Given the description of an element on the screen output the (x, y) to click on. 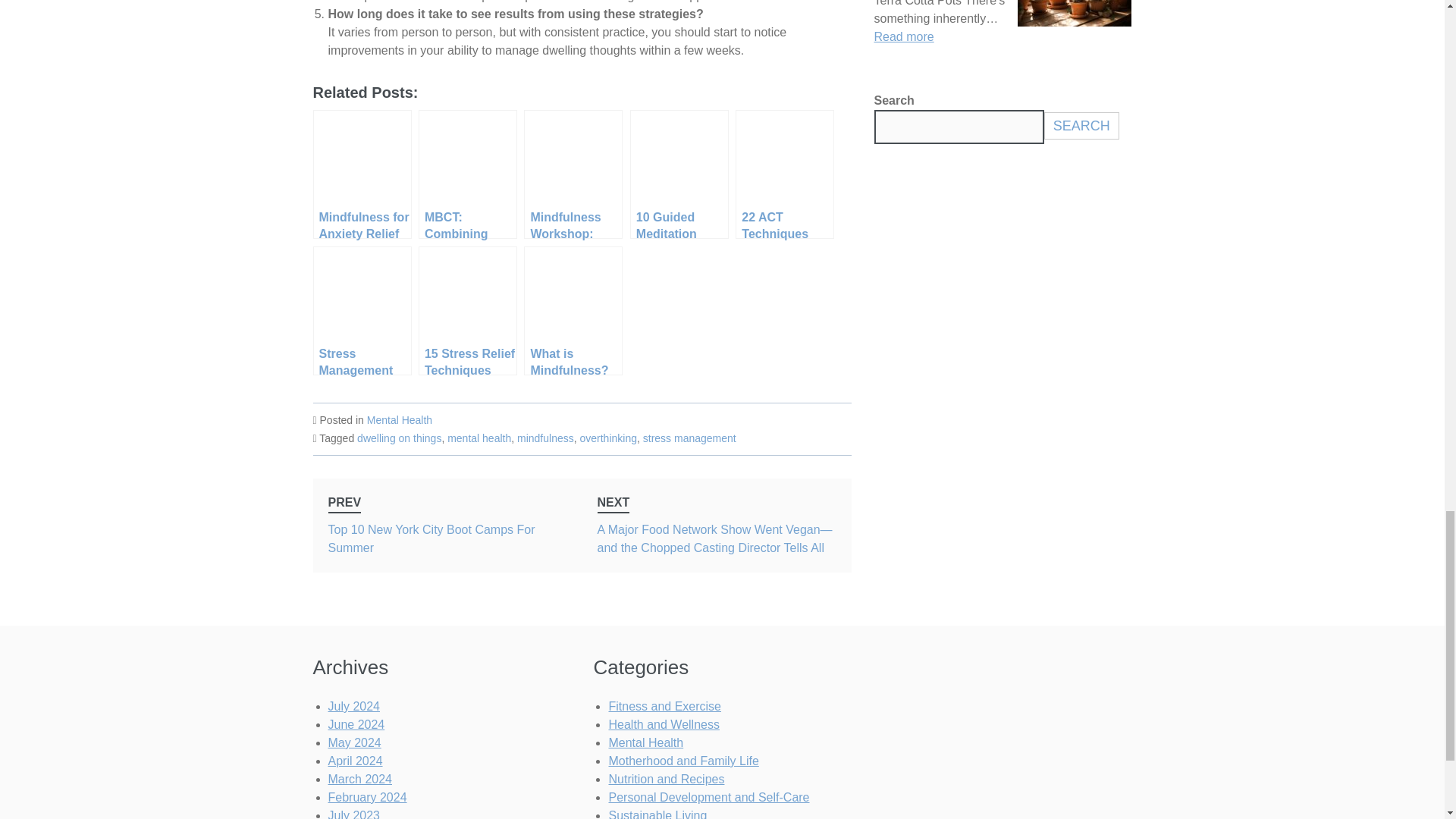
stress management (689, 438)
Mental Health (399, 419)
overthinking (608, 438)
dwelling on things (398, 438)
mindfulness (544, 438)
mental health (478, 438)
